Given the description of an element on the screen output the (x, y) to click on. 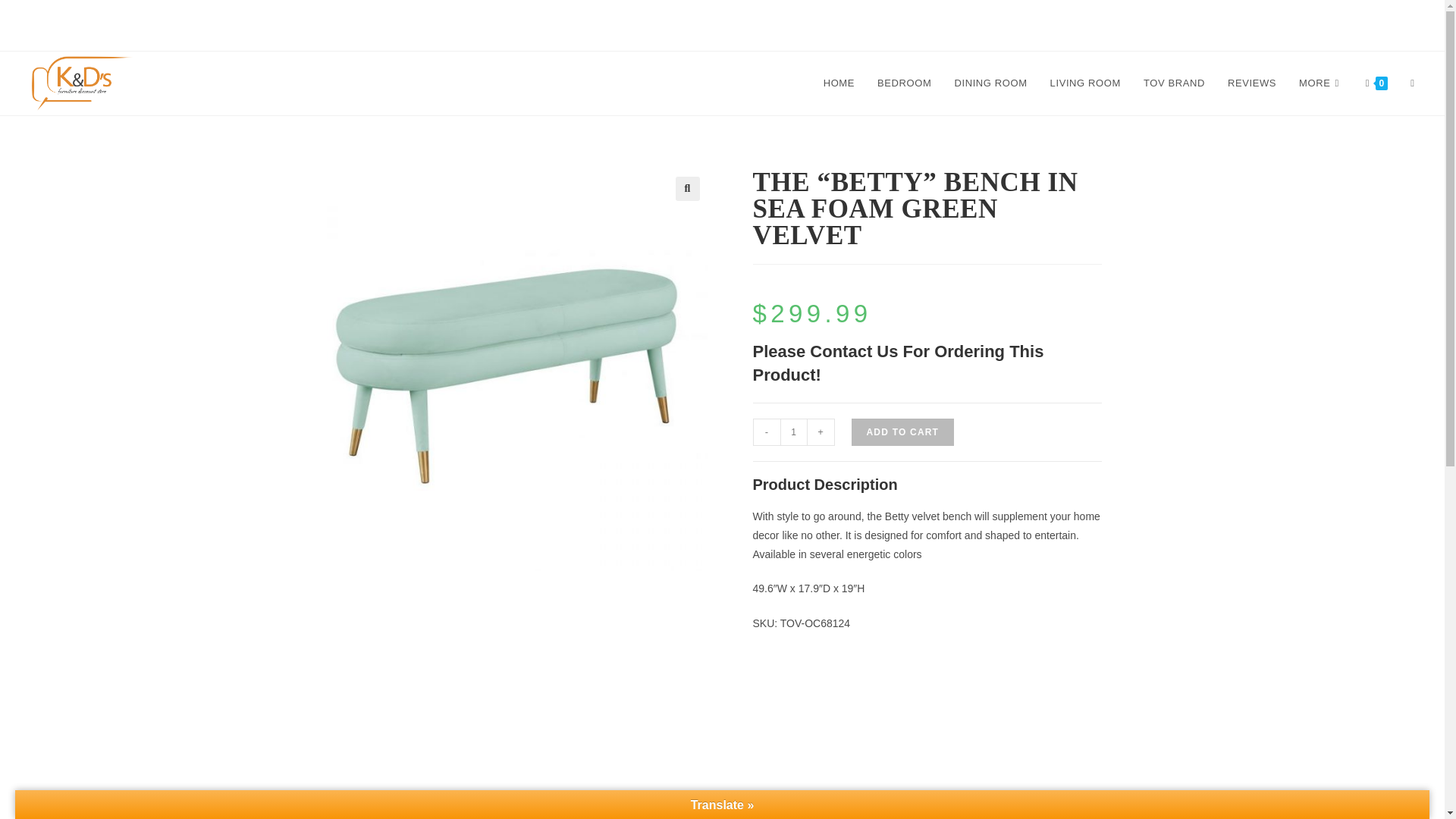
REVIEWS (1251, 83)
HOME (839, 83)
DINING ROOM (990, 83)
TOV BRAND (1173, 83)
MORE (1320, 83)
ADD TO CART (901, 431)
CLICK HERE for No-Credit Purchase Options! (721, 24)
BEDROOM (904, 83)
1 (792, 431)
- (765, 431)
LIVING ROOM (1085, 83)
